Given the description of an element on the screen output the (x, y) to click on. 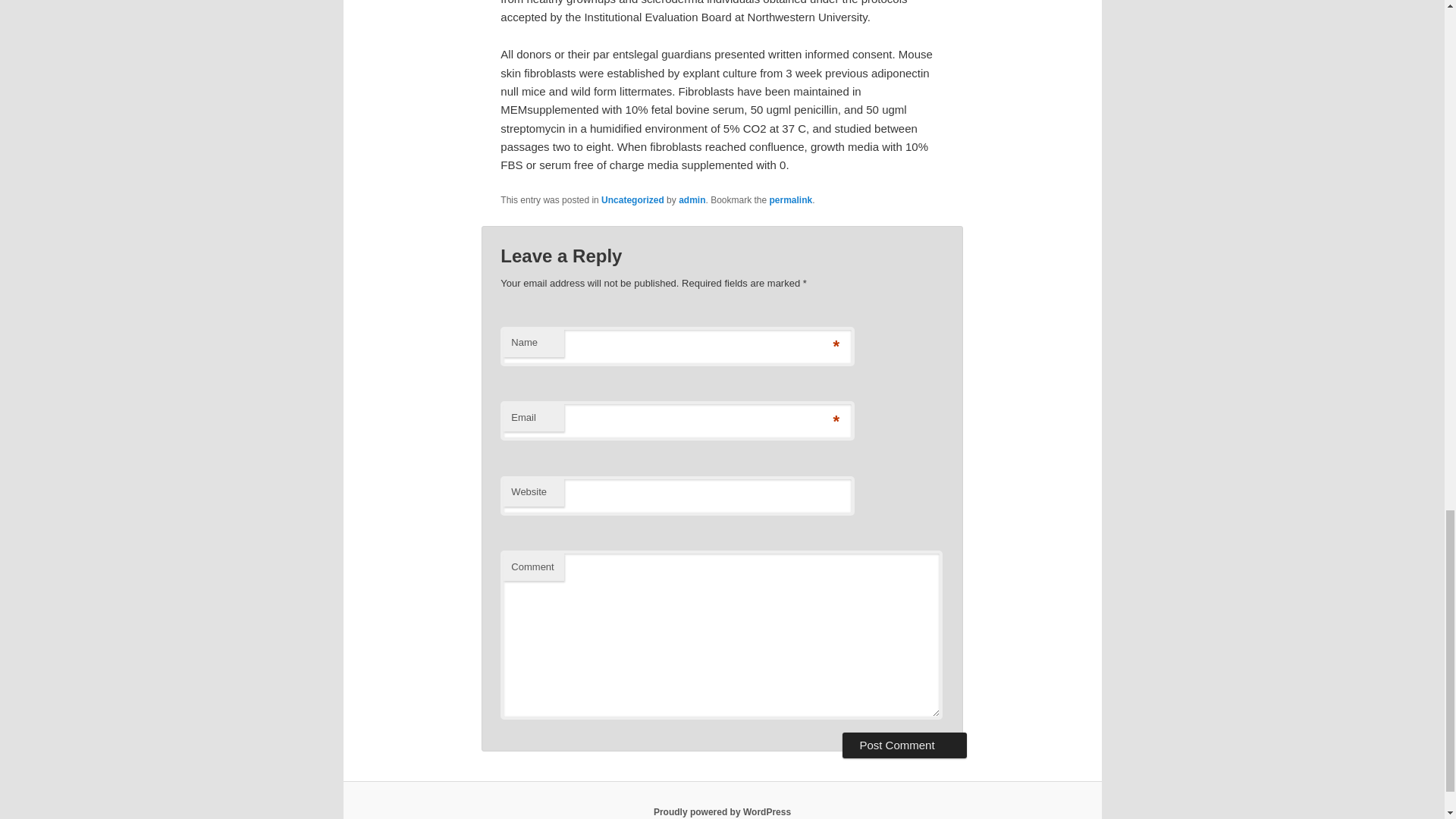
Post Comment (904, 745)
Uncategorized (632, 199)
admin (691, 199)
View all posts in Uncategorized (632, 199)
Post Comment (904, 745)
Proudly powered by WordPress (721, 811)
Semantic Personal Publishing Platform (721, 811)
permalink (791, 199)
